Given the description of an element on the screen output the (x, y) to click on. 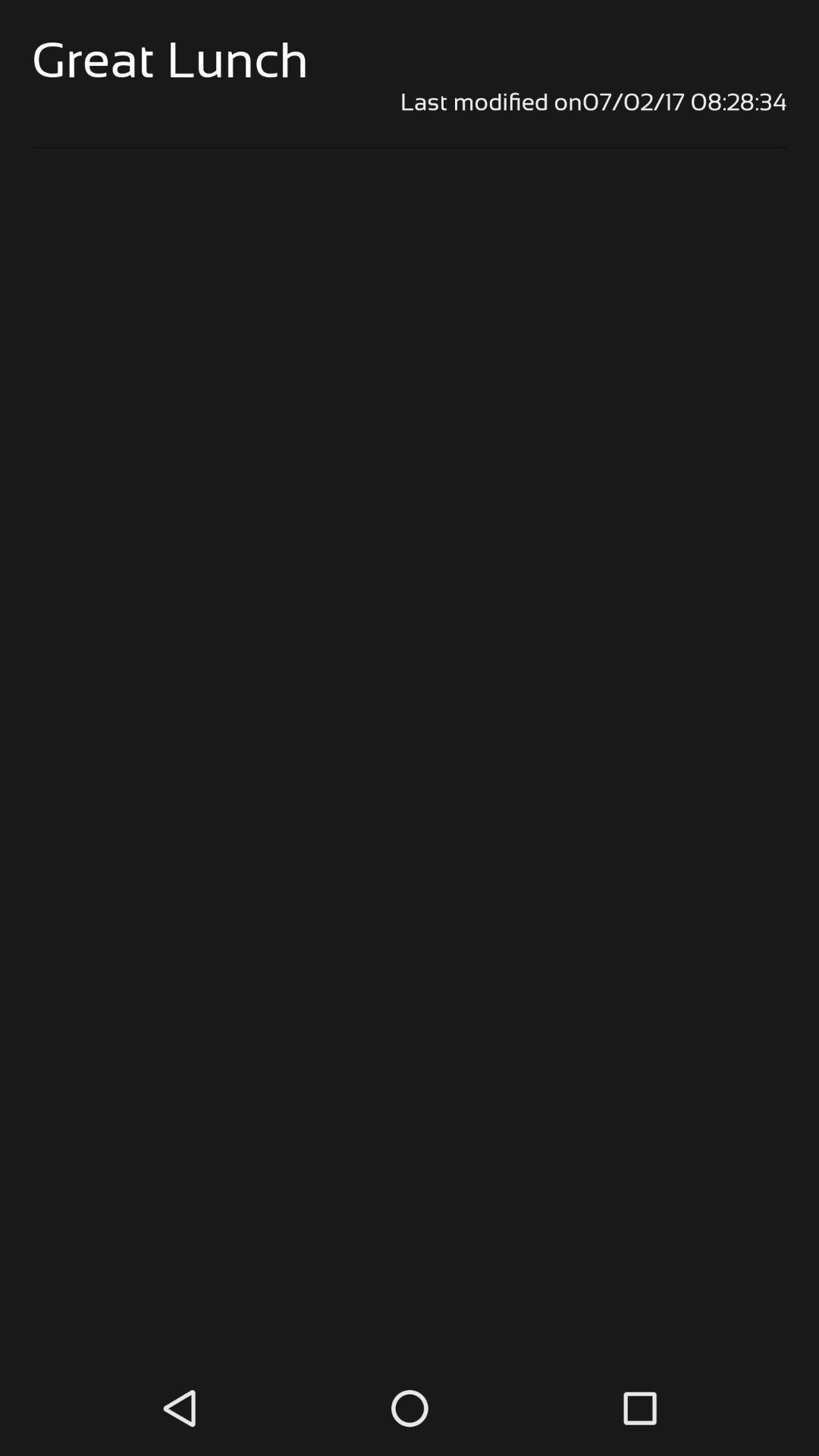
click item at the top (409, 101)
